Given the description of an element on the screen output the (x, y) to click on. 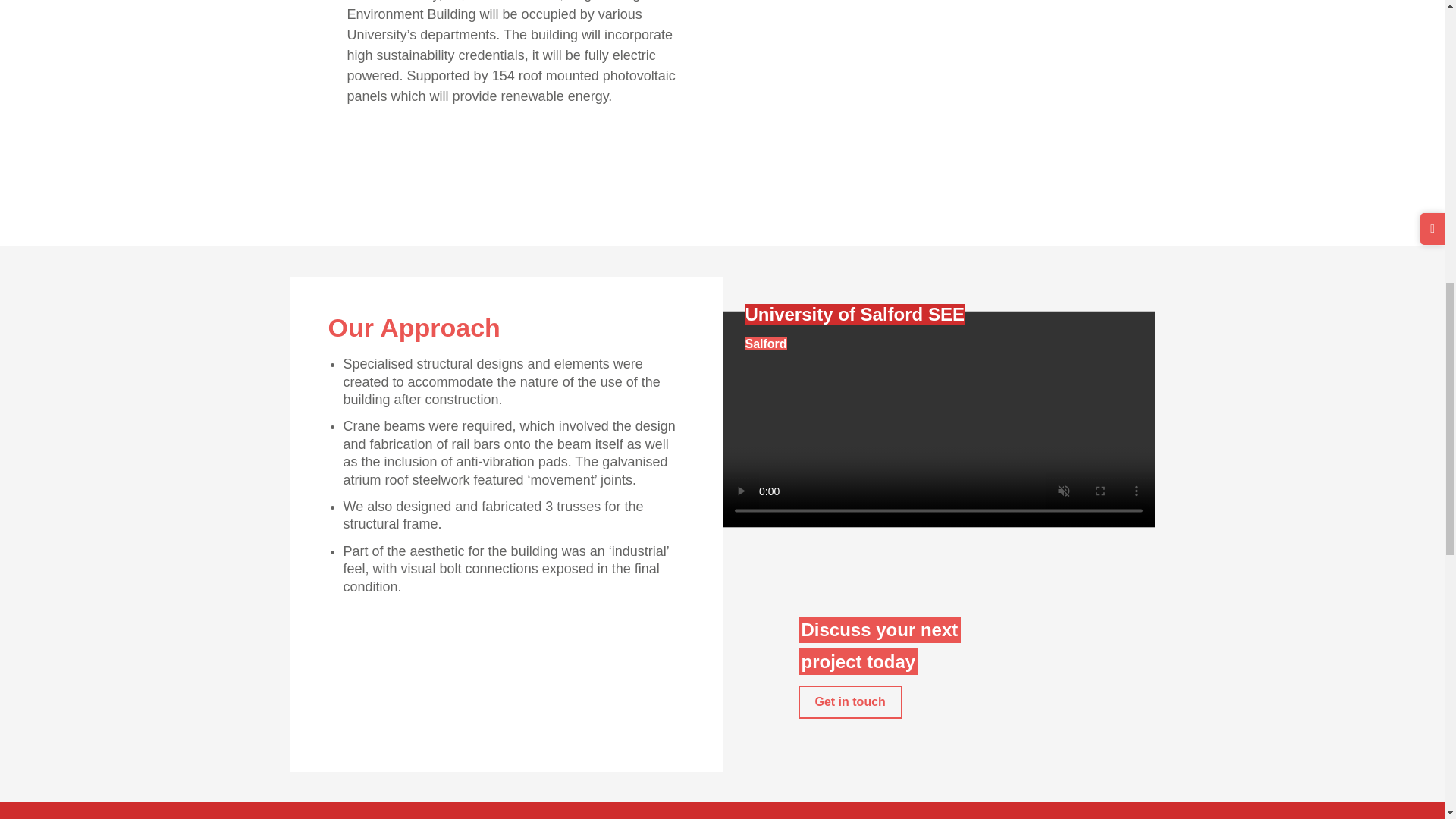
Get in touch (849, 702)
